Given the description of an element on the screen output the (x, y) to click on. 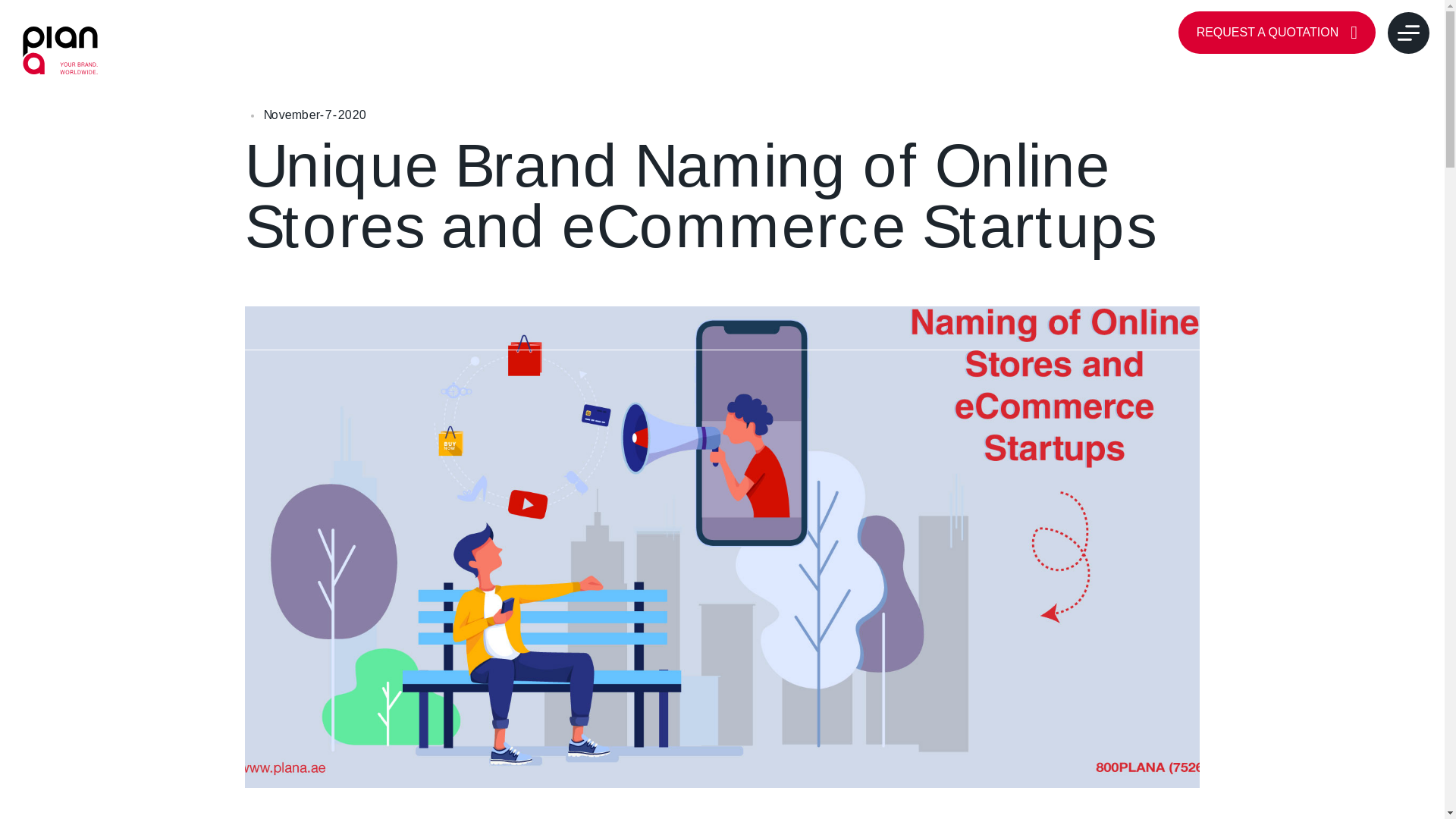
REQUEST A QUOTATION (1276, 32)
